Given the description of an element on the screen output the (x, y) to click on. 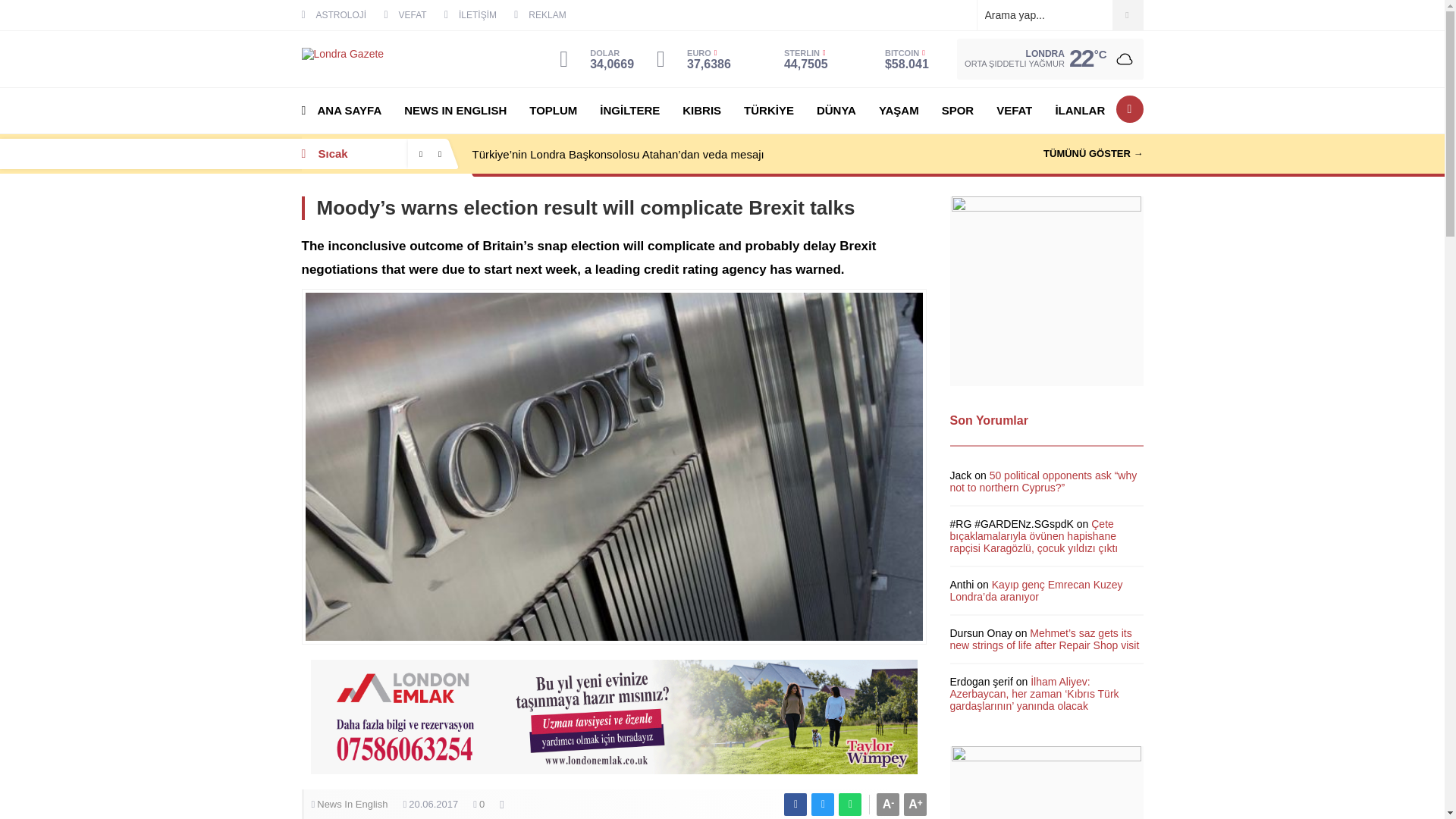
ANA SAYFA (341, 110)
NEWS IN ENGLISH (455, 110)
Arama yap... (1058, 15)
Londra Gazete - Anasayfa (342, 58)
TOPLUM (552, 110)
